Given the description of an element on the screen output the (x, y) to click on. 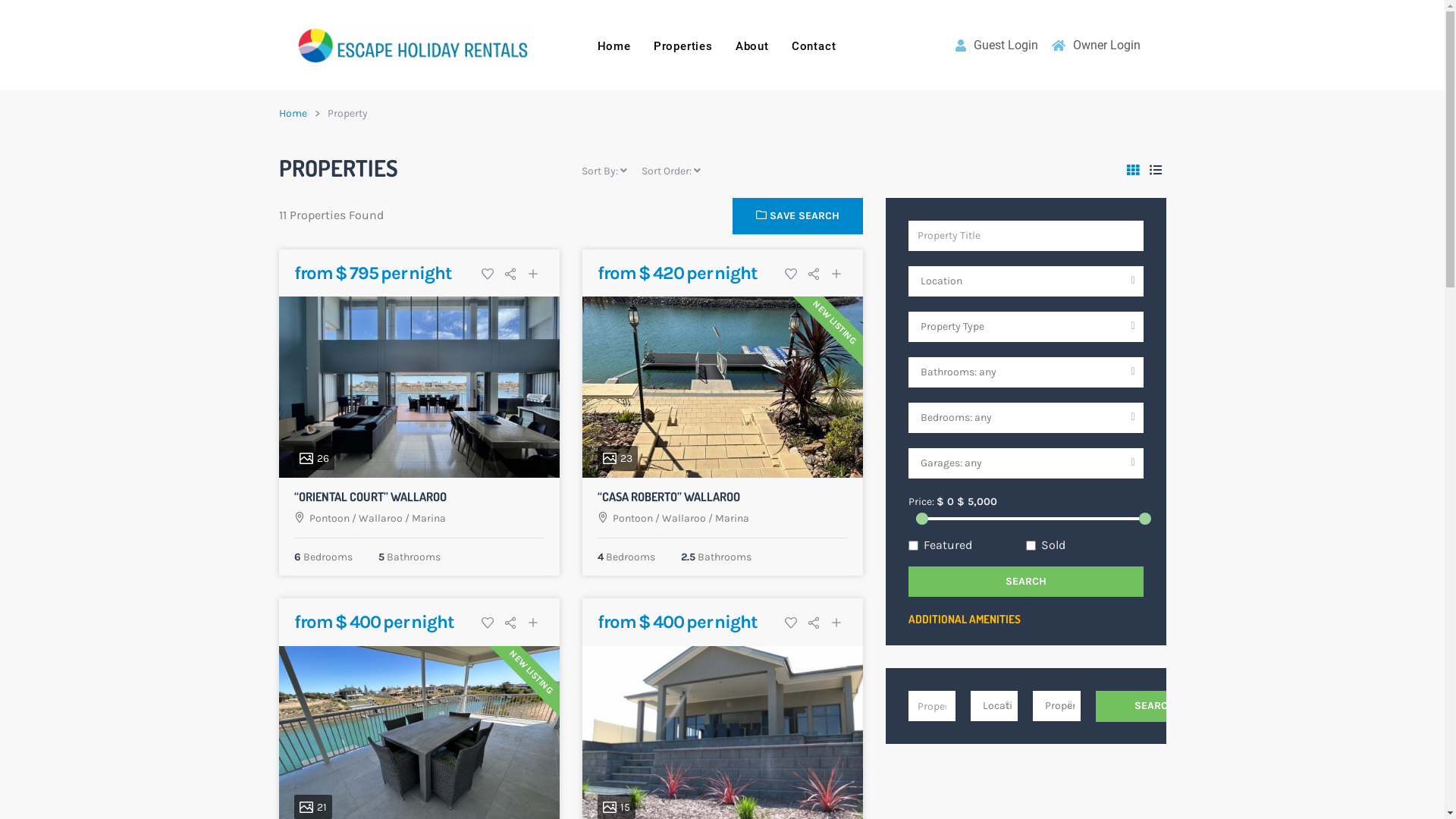
Pontoon Element type: text (632, 517)
Marina Element type: text (428, 517)
SEARCH Element type: text (1025, 581)
SEARCH Element type: text (1154, 705)
Owner Login Element type: text (1095, 45)
SAVE SEARCH Element type: text (797, 215)
Properties Element type: text (683, 46)
Pontoon Element type: text (329, 517)
Sort Order: Element type: text (670, 170)
Sort By: Element type: text (604, 170)
Wallaroo Element type: text (379, 517)
23 Element type: text (722, 386)
Home Element type: text (614, 46)
Home Element type: text (293, 112)
Wallaroo Element type: text (683, 517)
Contact Element type: text (813, 46)
Guest Login Element type: text (994, 45)
26 Element type: text (419, 386)
Marina Element type: text (731, 517)
About Element type: text (752, 46)
